Given the description of an element on the screen output the (x, y) to click on. 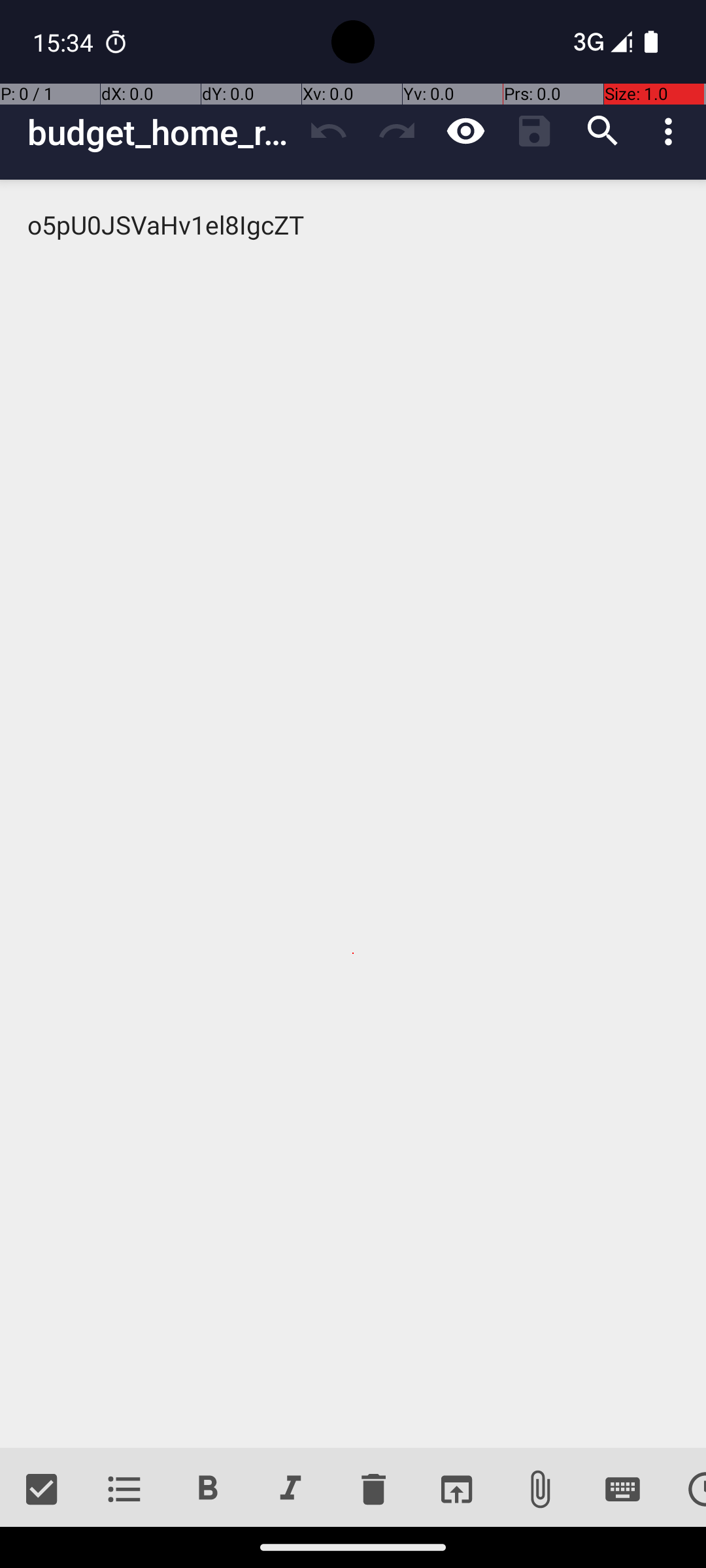
budget_home_renovation_final Element type: android.widget.TextView (160, 131)
o5pU0JSVaHv1el8IgcZT
 Element type: android.widget.EditText (353, 813)
